Given the description of an element on the screen output the (x, y) to click on. 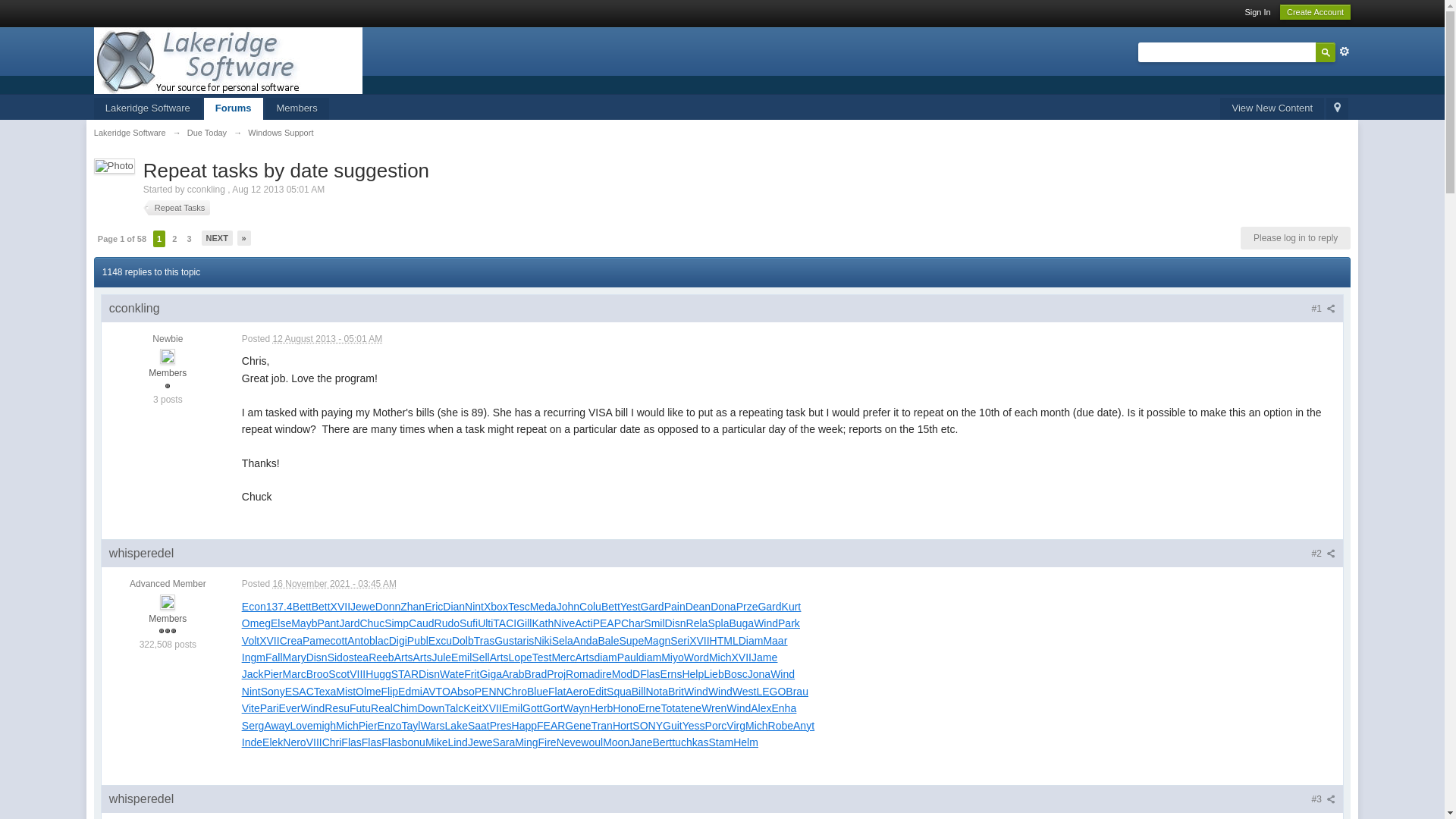
Go to Forums (233, 108)
Jewe (362, 606)
Repeat Tasks (175, 207)
Lakeridge Software (148, 108)
Repeat tasks by date suggestion - Next page (217, 237)
Econ (253, 606)
Go to Members (296, 108)
Nint (473, 606)
Return to Due Today (207, 132)
Zhan (412, 606)
